Given the description of an element on the screen output the (x, y) to click on. 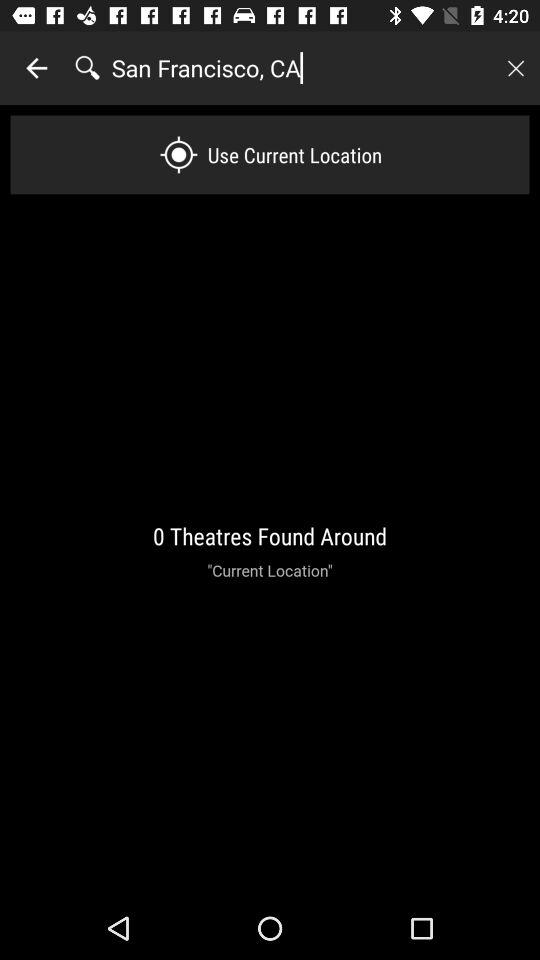
choose the item at the top right corner (515, 68)
